Given the description of an element on the screen output the (x, y) to click on. 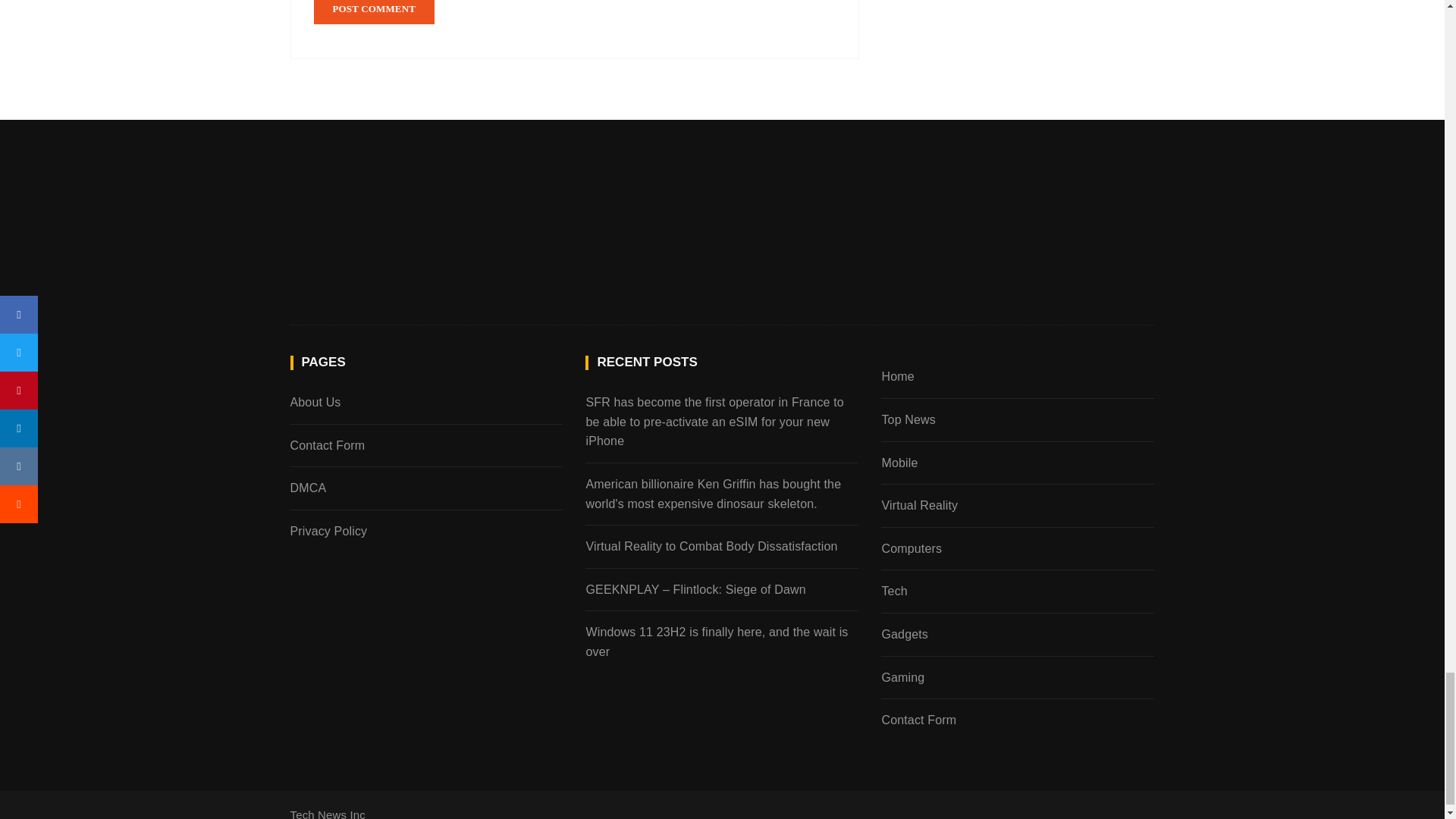
Post Comment (374, 12)
